Given the description of an element on the screen output the (x, y) to click on. 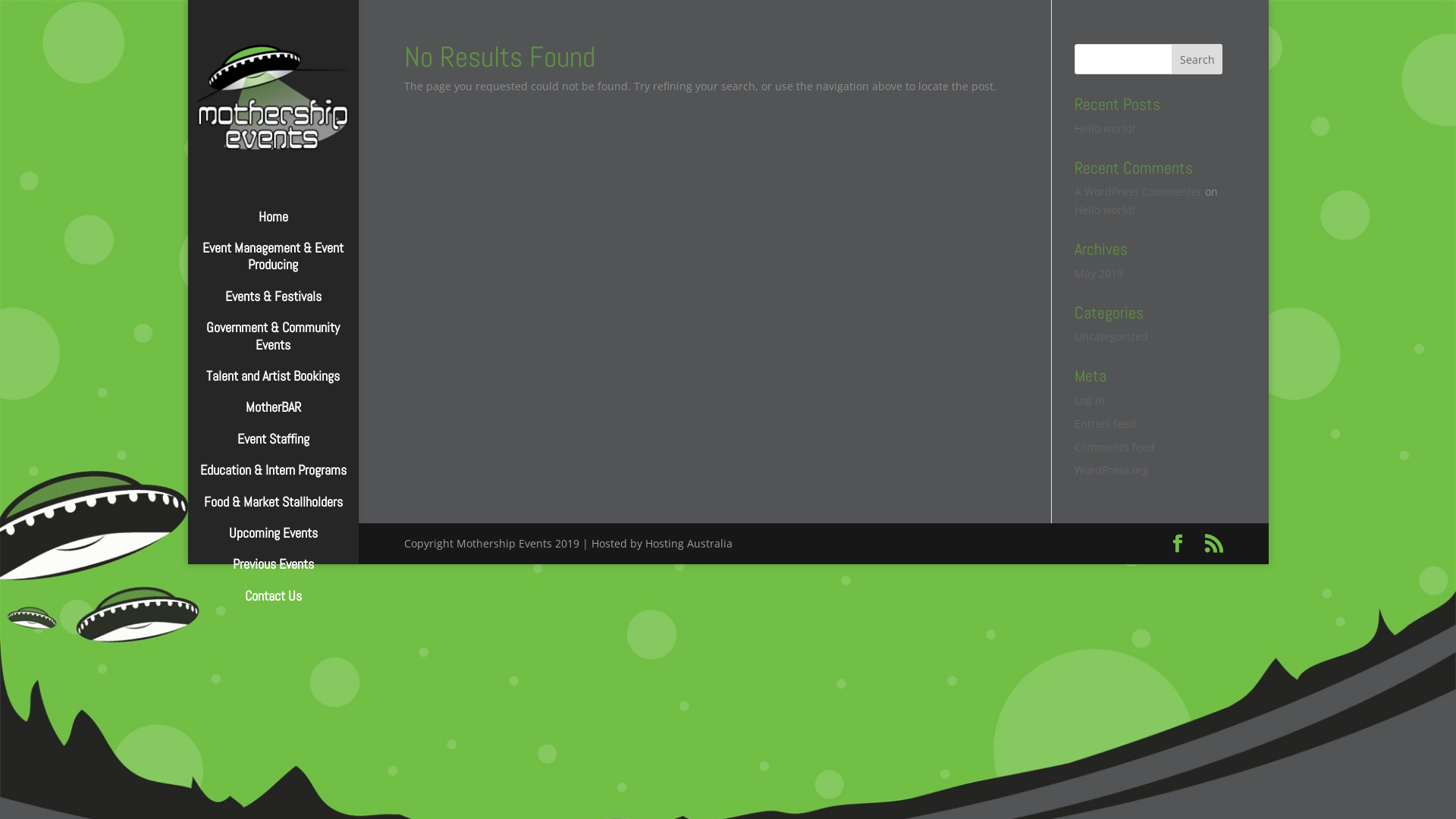
WordPress.org Element type: text (1111, 469)
Previous Events Element type: text (288, 570)
Education & Intern Programs Element type: text (288, 476)
Comments feed Element type: text (1114, 446)
Event Staffing Element type: text (288, 445)
Event Management & Event Producing Element type: text (288, 263)
Talent and Artist Bookings Element type: text (288, 382)
Search Element type: text (1197, 58)
A WordPress Commenter Element type: text (1137, 191)
Home Element type: text (288, 223)
May 2019 Element type: text (1098, 273)
Events & Festivals Element type: text (288, 303)
Uncategorized Element type: text (1111, 336)
Log in Element type: text (1089, 399)
Food & Market Stallholders Element type: text (288, 508)
Hello world! Element type: text (1104, 128)
Government & Community Events Element type: text (288, 343)
Upcoming Events Element type: text (288, 539)
Hello world! Element type: text (1104, 209)
Entries feed Element type: text (1104, 423)
MotherBAR Element type: text (288, 413)
Contact Us Element type: text (288, 602)
